Given the description of an element on the screen output the (x, y) to click on. 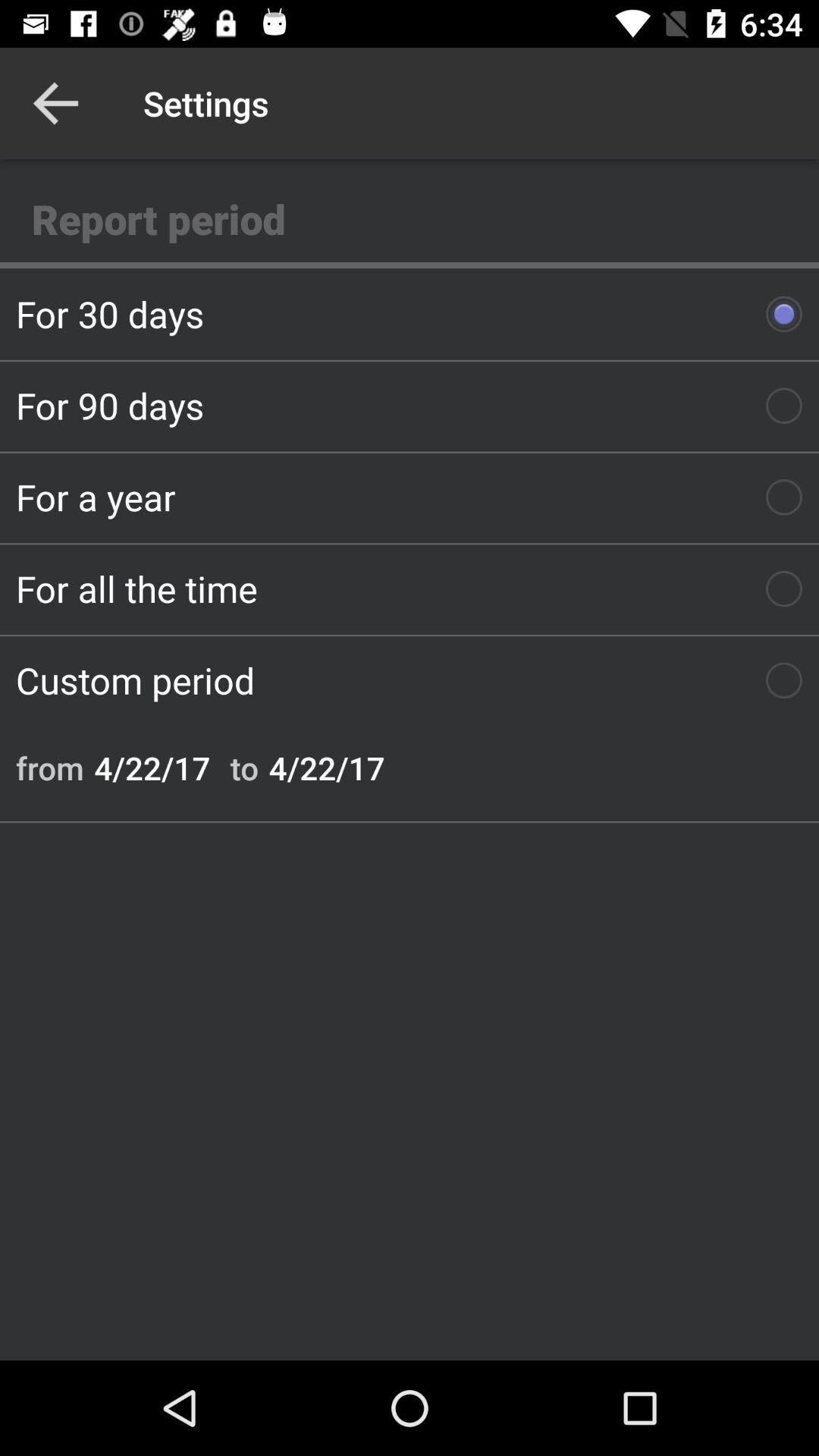
go back (55, 103)
